Given the description of an element on the screen output the (x, y) to click on. 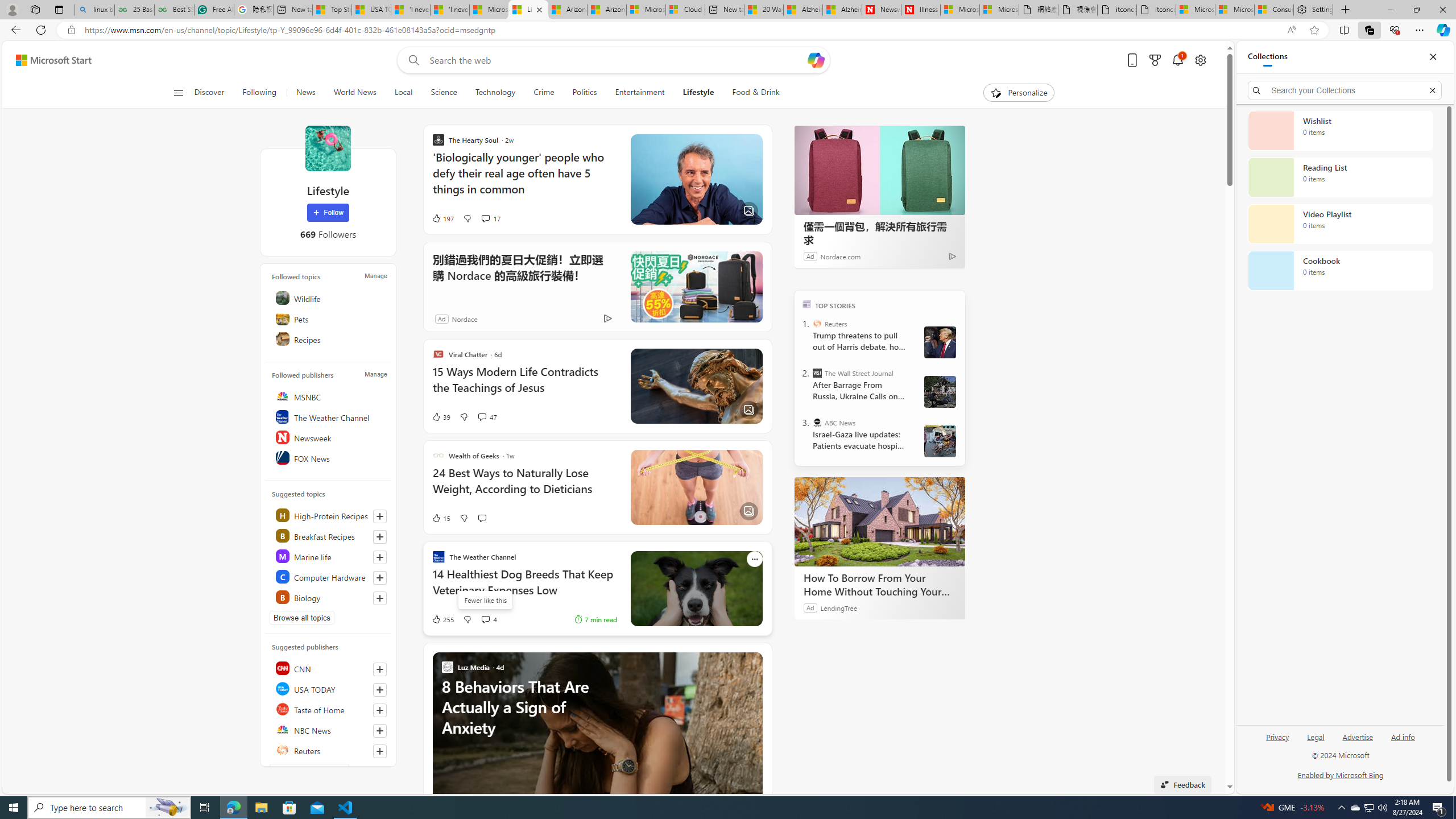
View comments 47 Comment (487, 416)
Best SSL Certificates Provider in India - GeeksforGeeks (174, 9)
Cookbook collection, 0 items (1339, 270)
